Given the description of an element on the screen output the (x, y) to click on. 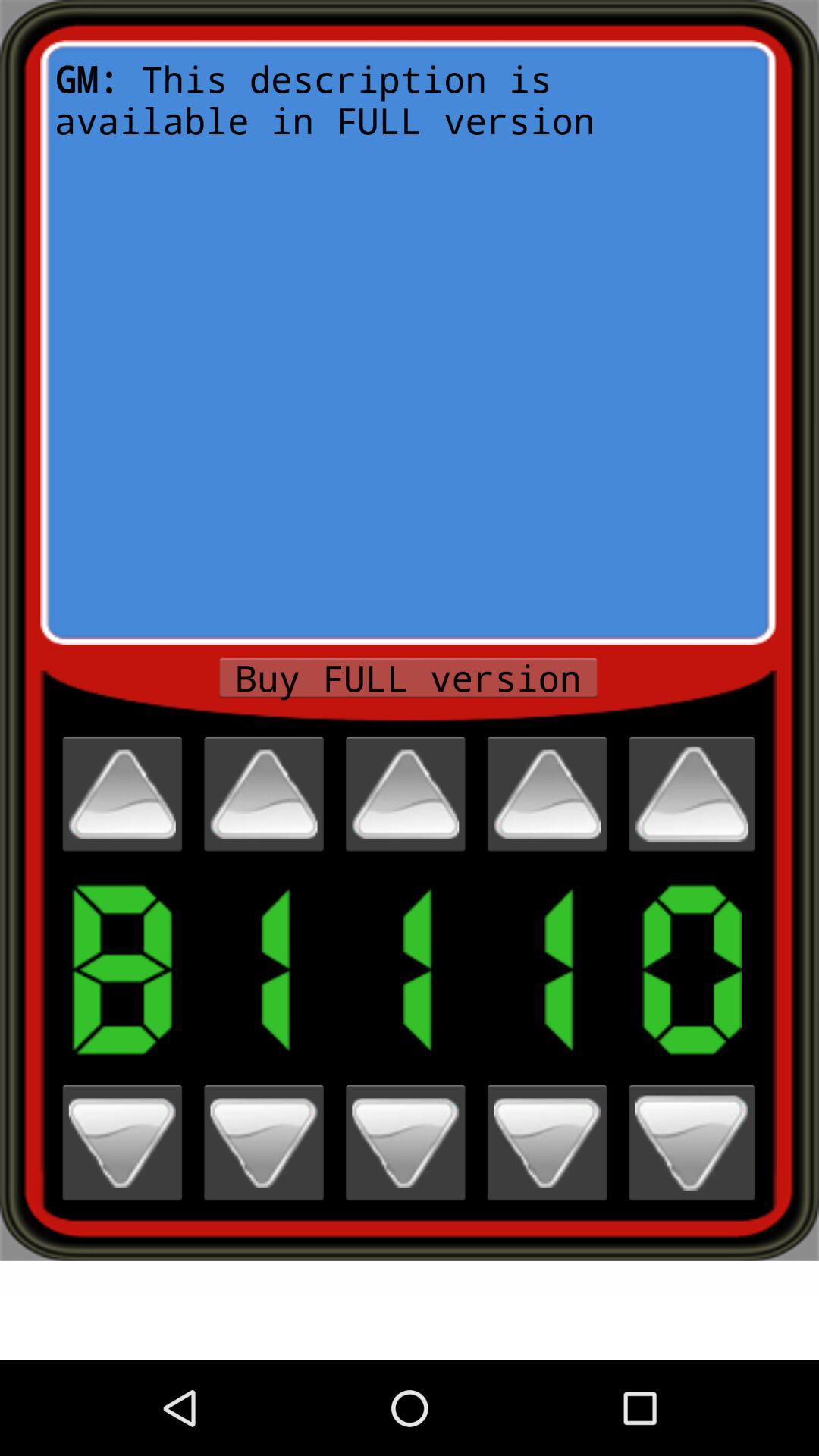
scroll up one digit (121, 794)
